Given the description of an element on the screen output the (x, y) to click on. 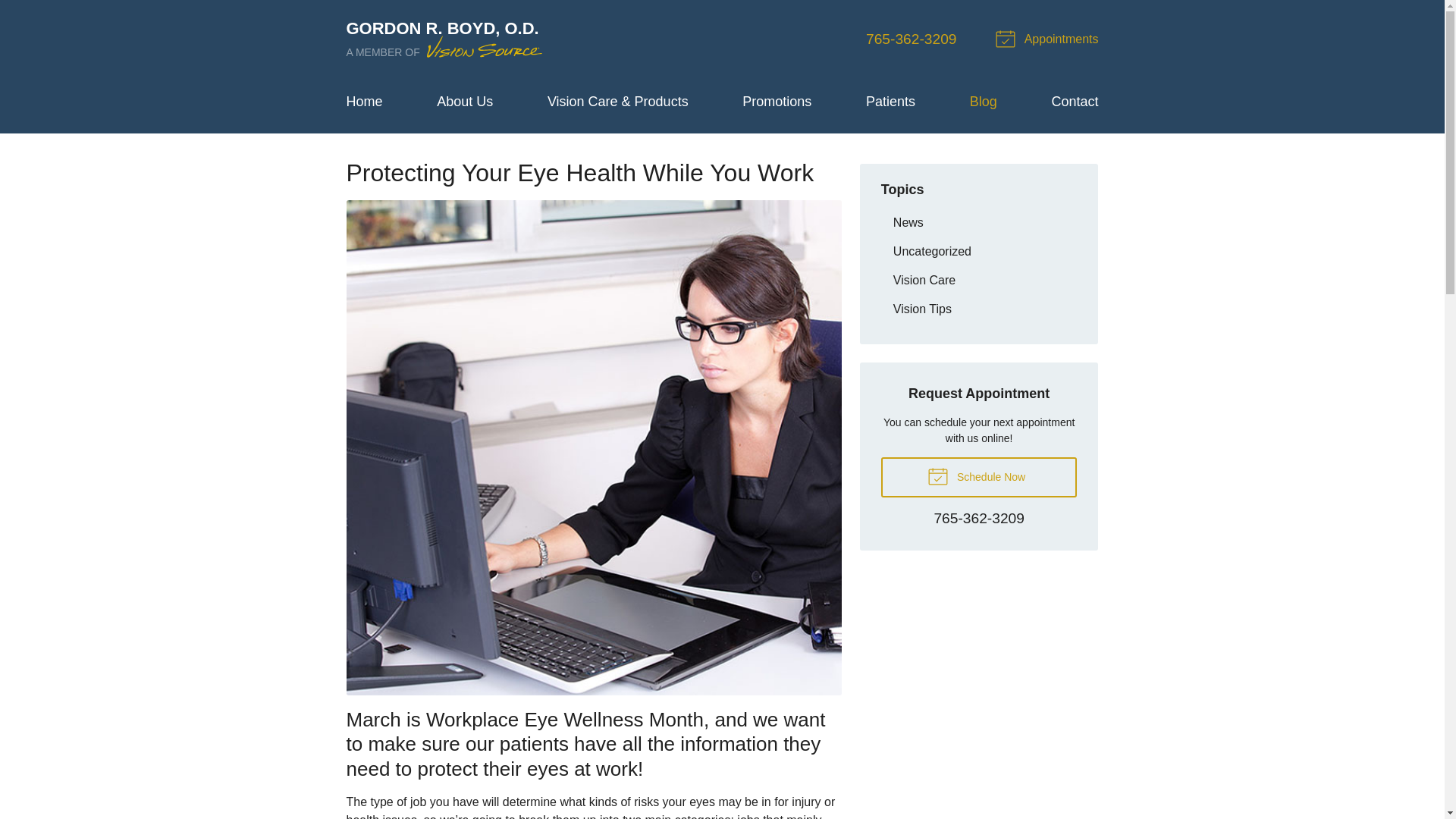
News (978, 222)
Uncategorized (978, 251)
765-362-3209 (979, 519)
Home (363, 101)
Patients (890, 101)
Call practice (979, 519)
Gordon R. Boyd, O.D. (445, 39)
Promotions (776, 101)
Call practice (911, 38)
Appointments (1048, 39)
Schedule Now (978, 477)
Blog (983, 101)
765-362-3209 (911, 38)
Schedule Now (978, 477)
